Given the description of an element on the screen output the (x, y) to click on. 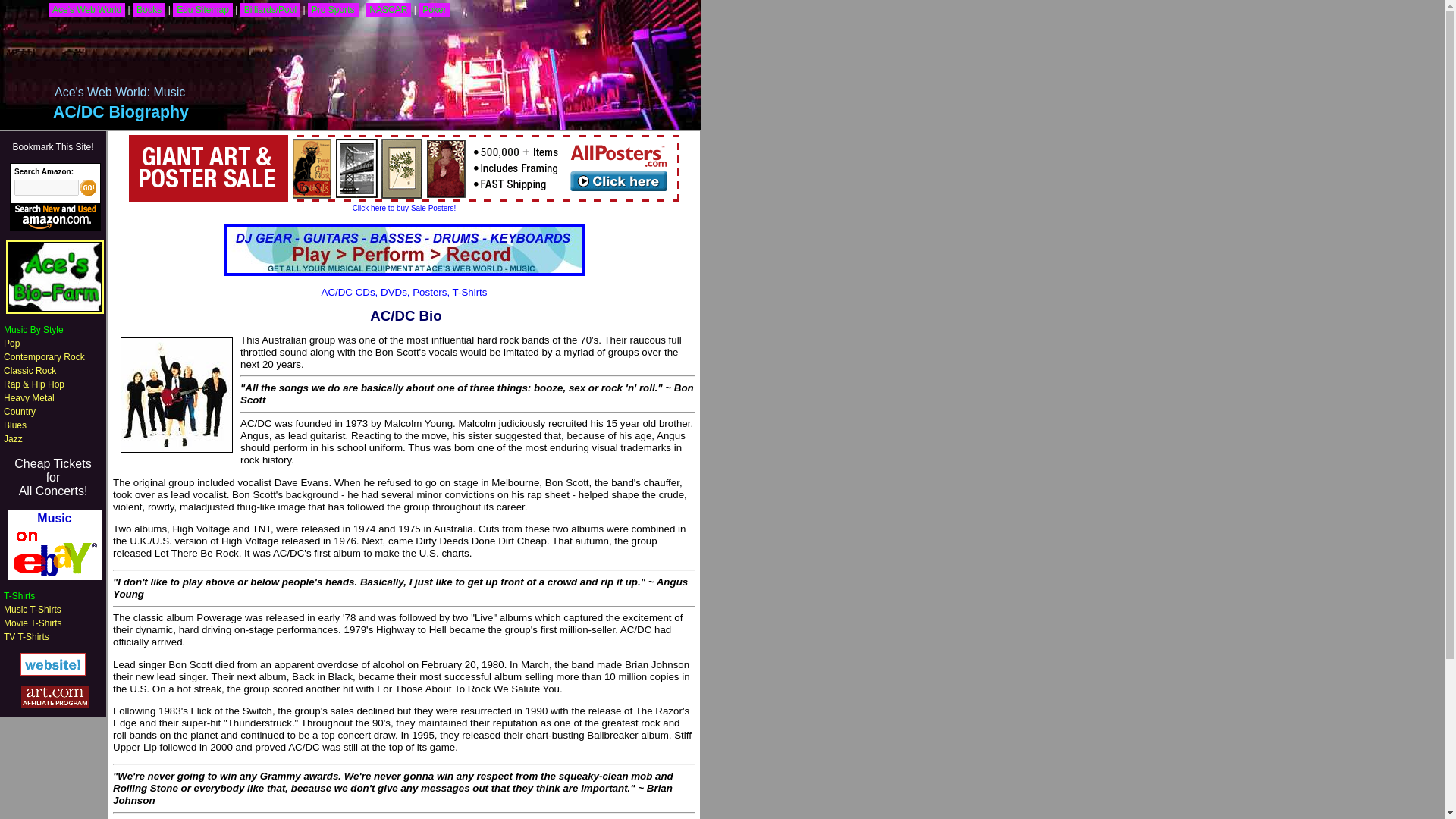
Blues (15, 425)
Ace's Web World (86, 9)
Heavy Metal (29, 398)
NASCAR (387, 9)
Cheap Concert Tickets from Ticket Liquidators (52, 477)
Books (52, 477)
Classic Rock (148, 9)
Music T-Shirts (30, 370)
Music (32, 609)
